Given the description of an element on the screen output the (x, y) to click on. 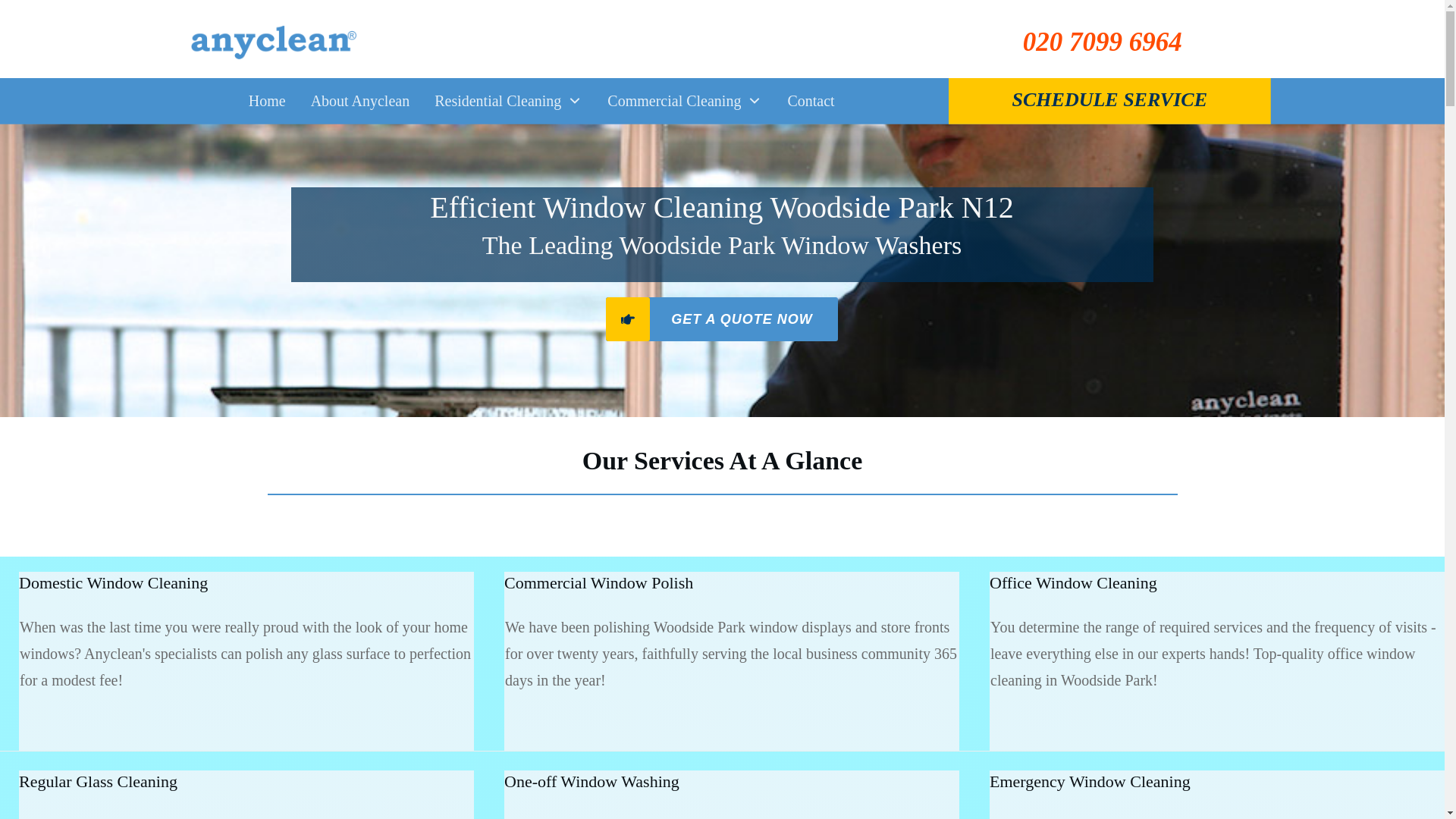
SCHEDULE SERVICE (1109, 99)
GET A QUOTE NOW (721, 319)
Home (266, 100)
020 7099 6964 (1102, 41)
Contact (810, 100)
Residential Cleaning (507, 100)
About Anyclean (360, 100)
Commercial Cleaning (684, 100)
